Given the description of an element on the screen output the (x, y) to click on. 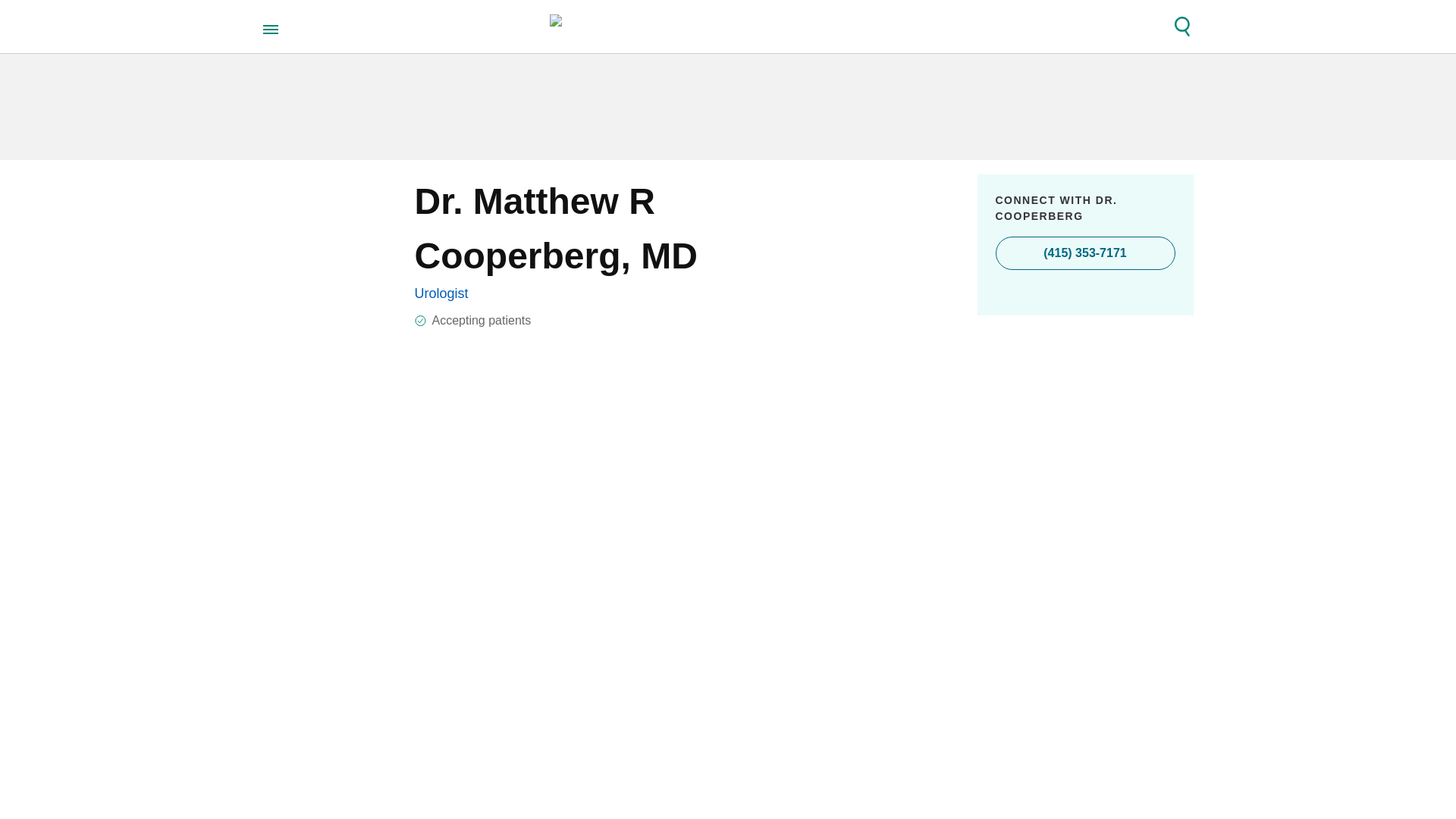
Urologist (440, 293)
